Given the description of an element on the screen output the (x, y) to click on. 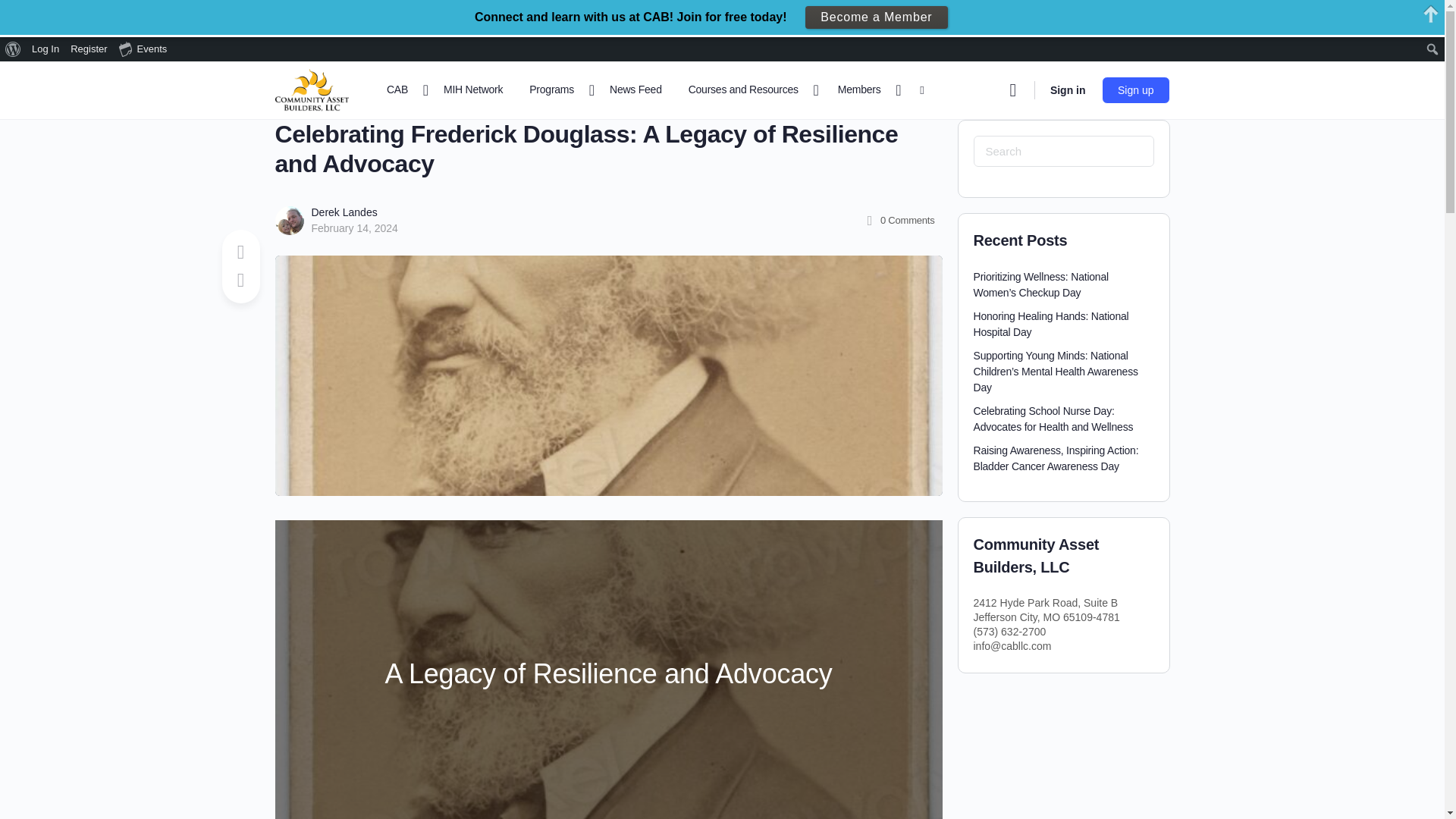
News Feed (635, 89)
Sign in (1067, 89)
Sign up (1135, 90)
CAB (403, 89)
Register (89, 48)
Programs (557, 89)
Log In (45, 48)
MIH Network (473, 89)
Members (865, 89)
Search (16, 12)
Courses and Resources (749, 89)
Events (143, 48)
